Given the description of an element on the screen output the (x, y) to click on. 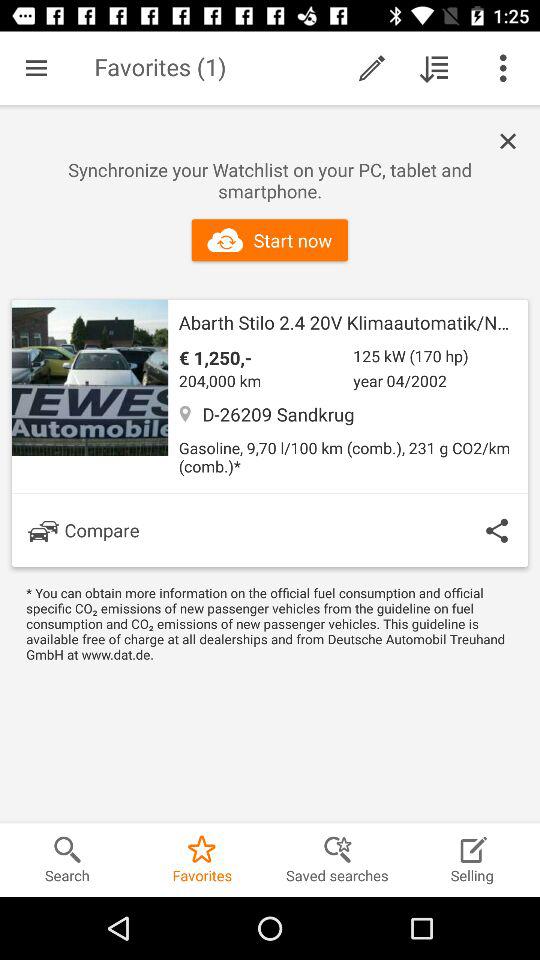
click item to the right of favorites (1) item (371, 67)
